Given the description of an element on the screen output the (x, y) to click on. 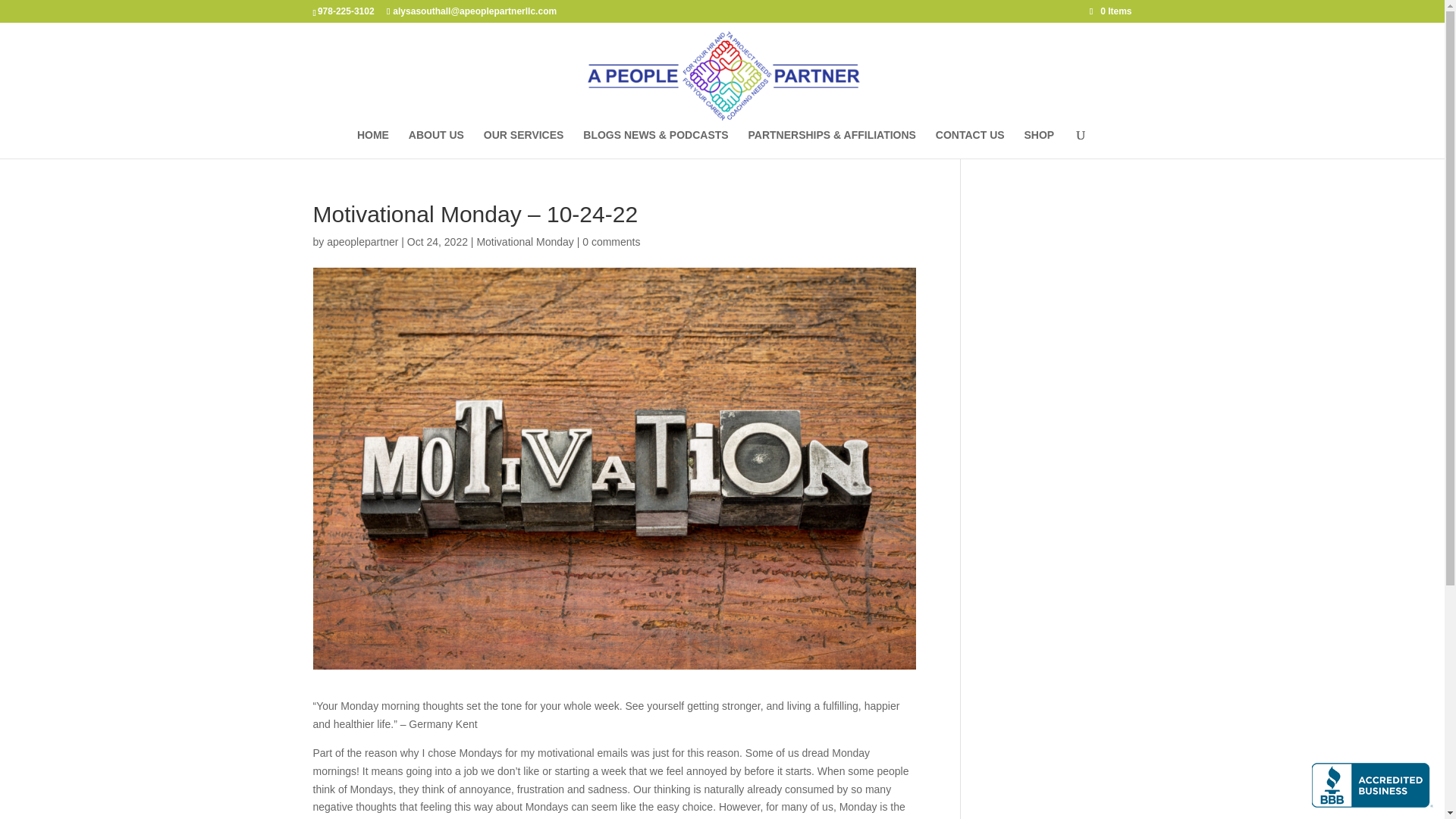
Posts by apeoplepartner (361, 241)
CONTACT US (970, 143)
0 Items (1110, 10)
0 comments (611, 241)
HOME (372, 143)
ABOUT US (436, 143)
Motivational Monday (524, 241)
OUR SERVICES (523, 143)
SHOP (1038, 143)
apeoplepartner (361, 241)
